Given the description of an element on the screen output the (x, y) to click on. 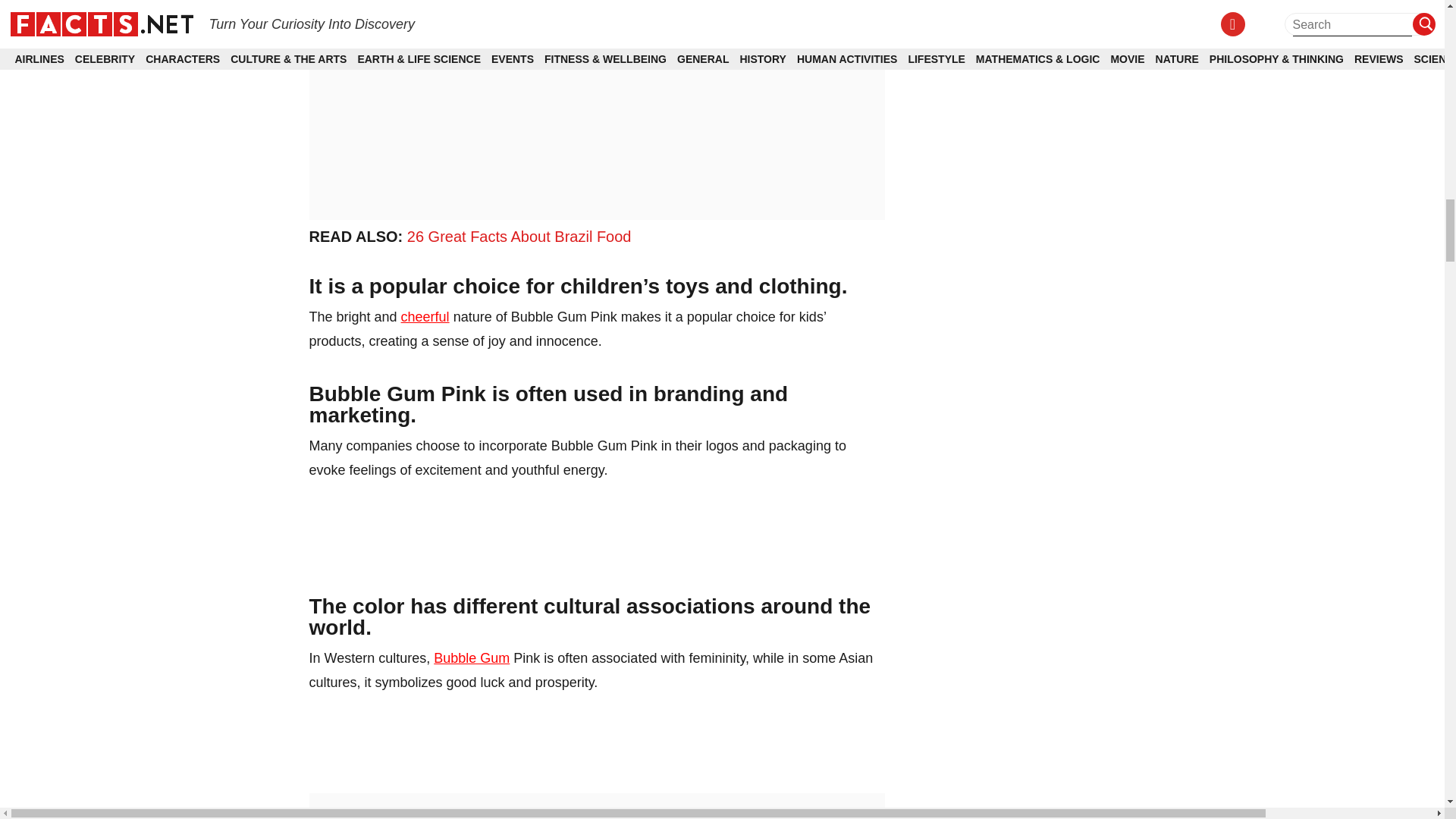
Bubble Gum (471, 657)
cheerful (425, 316)
